Given the description of an element on the screen output the (x, y) to click on. 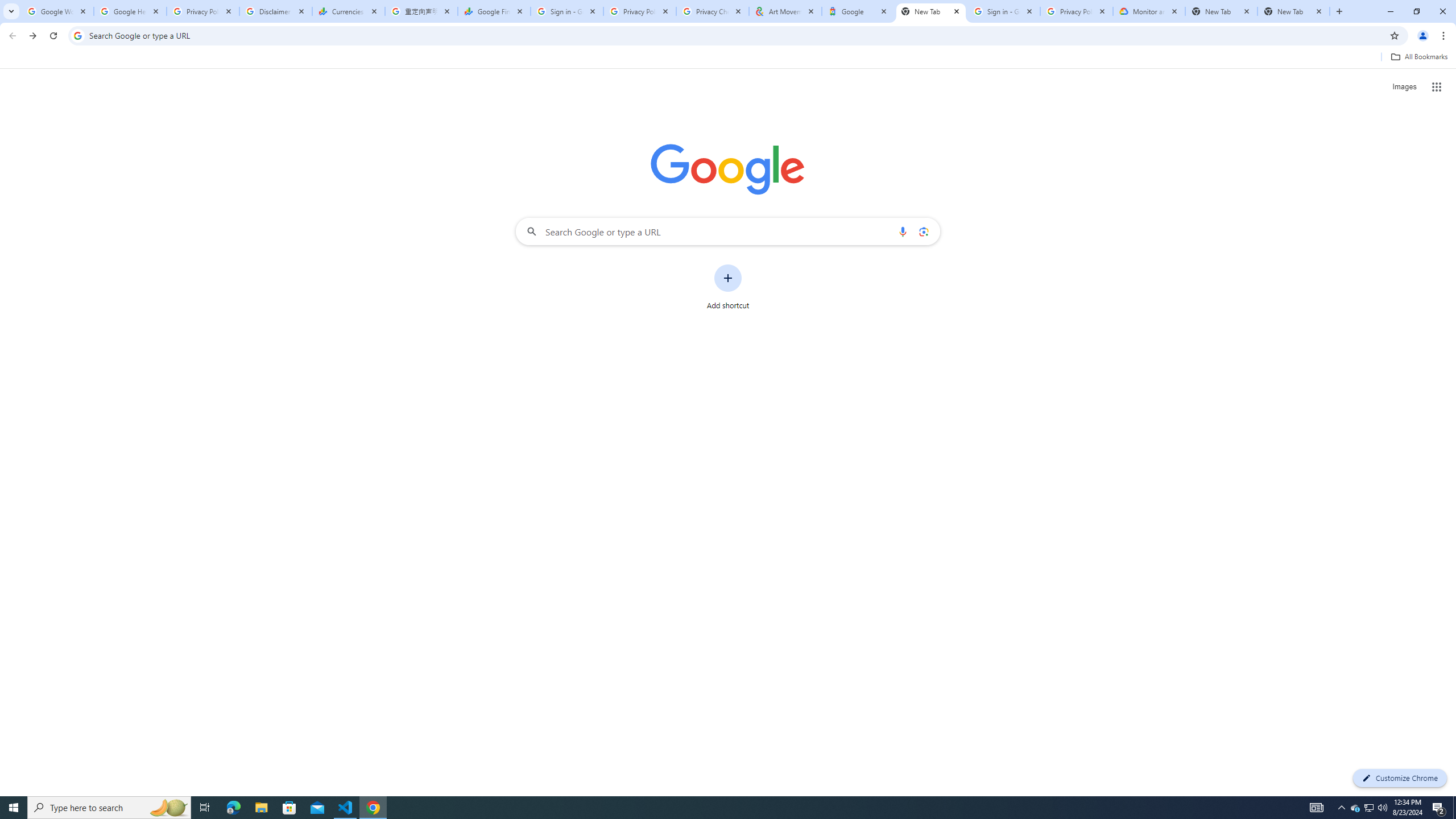
Reload (52, 35)
Search for Images  (1403, 87)
System (6, 6)
Bookmark this tab (1393, 35)
Back (10, 35)
Currencies - Google Finance (348, 11)
Sign in - Google Accounts (566, 11)
New Tab (1293, 11)
Close (1318, 11)
New Tab (930, 11)
Search by image (922, 230)
